Given the description of an element on the screen output the (x, y) to click on. 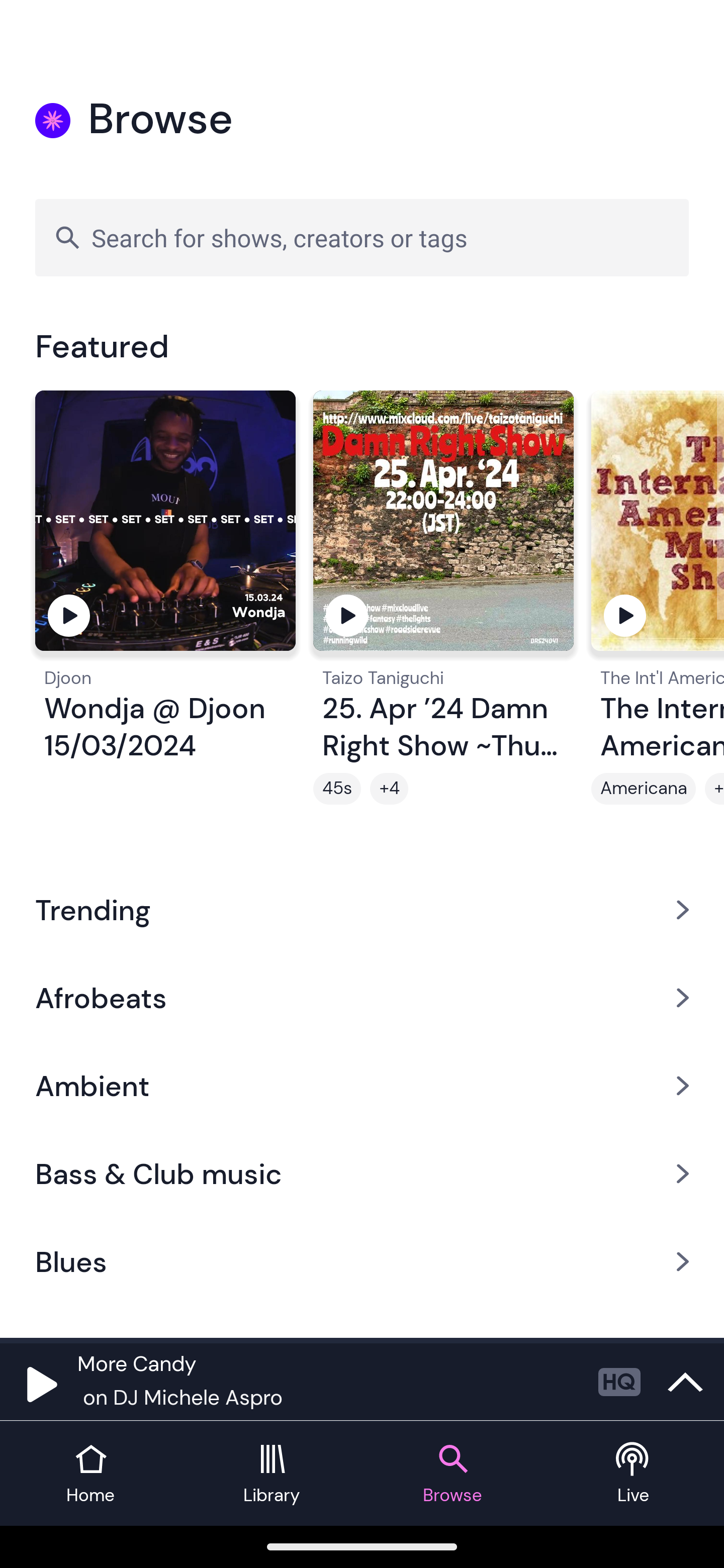
Search for shows, creators or tags (361, 237)
45s (337, 788)
Americana (643, 788)
Trending (361, 909)
Afrobeats (361, 997)
Ambient (361, 1085)
Bass & Club music (361, 1174)
Blues (361, 1262)
Home tab Home (90, 1473)
Library tab Library (271, 1473)
Browse tab Browse (452, 1473)
Live tab Live (633, 1473)
